Given the description of an element on the screen output the (x, y) to click on. 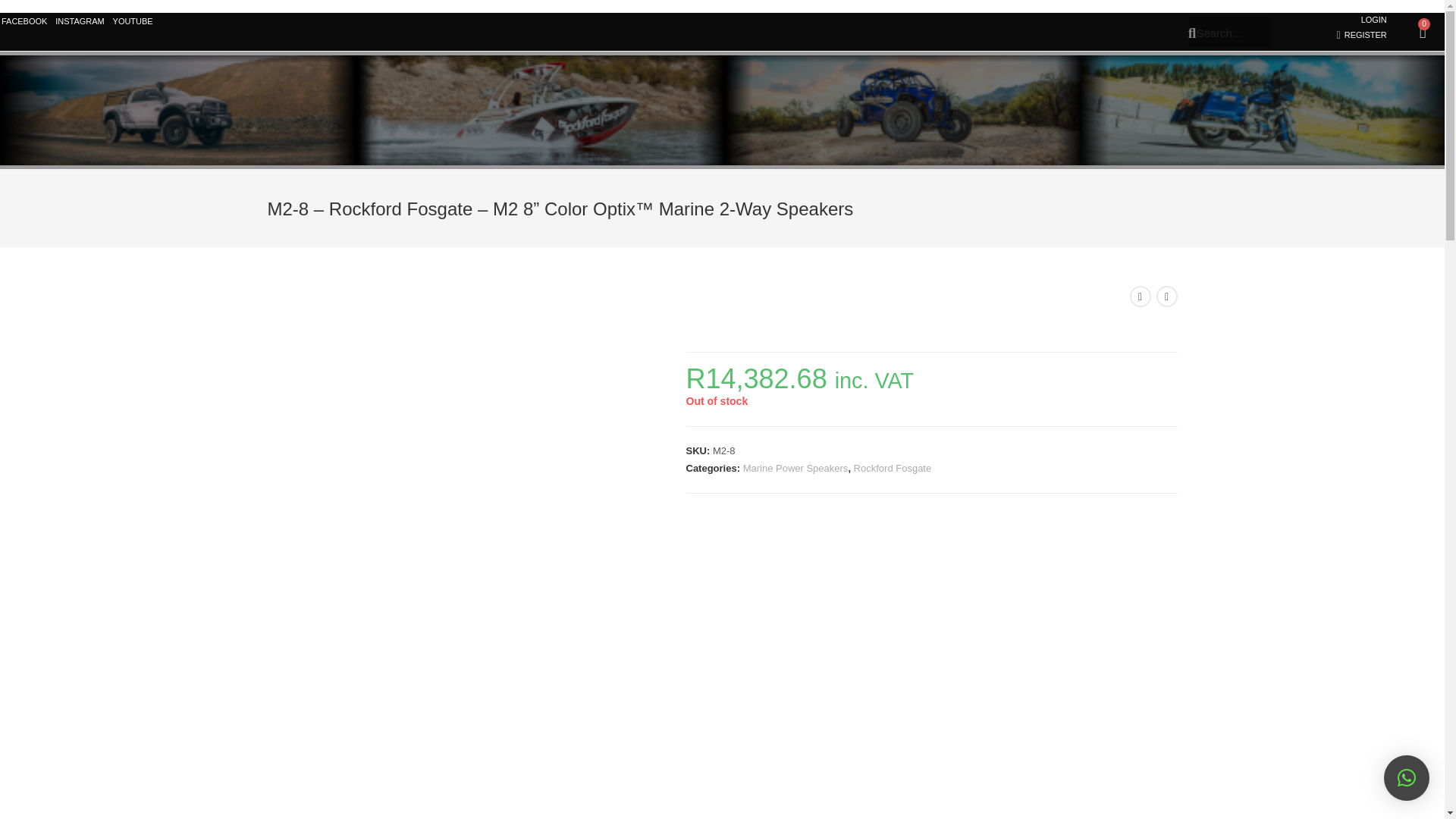
YOUTUBE (132, 21)
FACEBOOK (23, 21)
INSTAGRAM (79, 21)
LOGIN (1374, 20)
REGISTER (1356, 35)
